Given the description of an element on the screen output the (x, y) to click on. 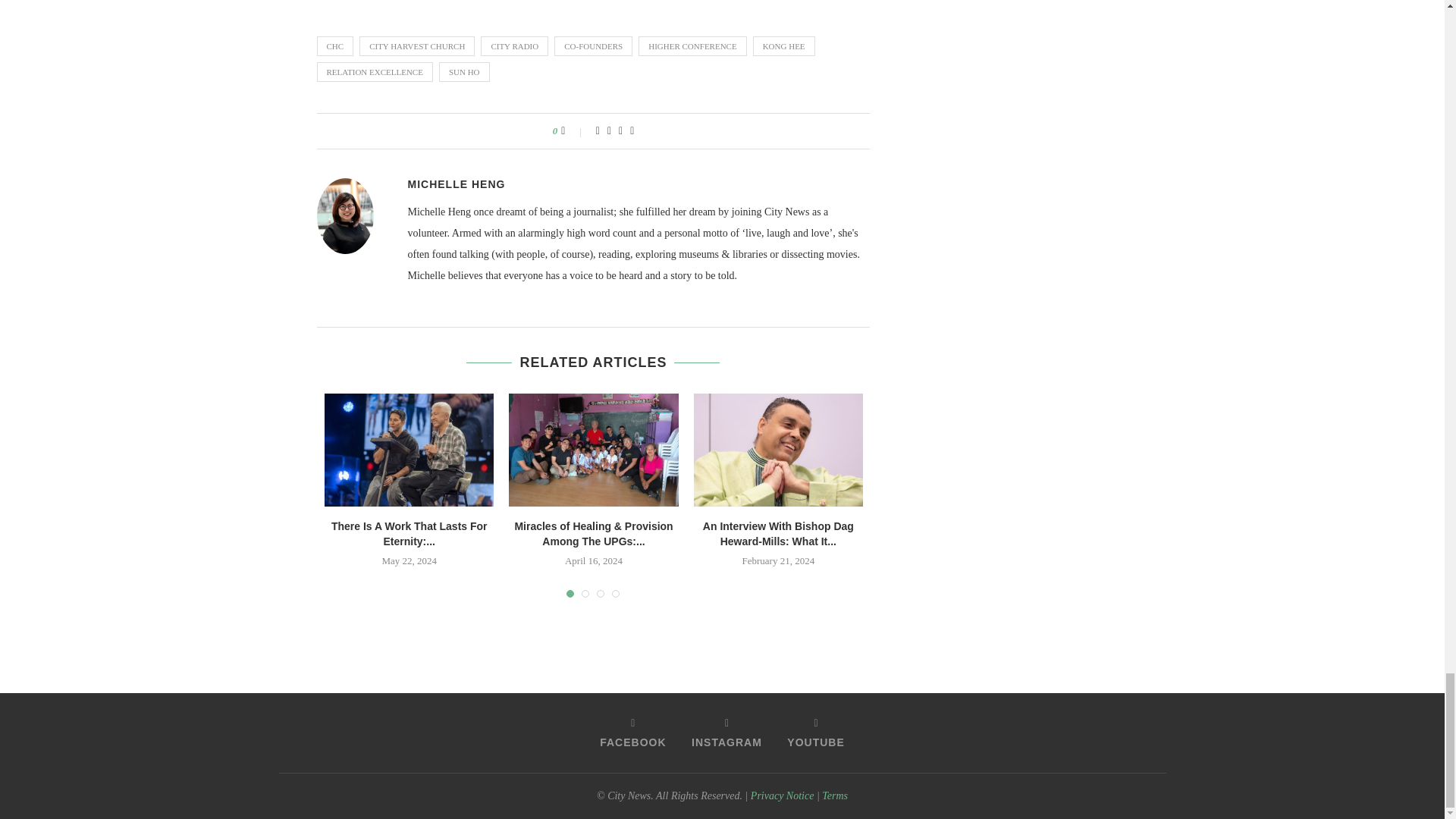
Like (572, 131)
Posts by Michelle Heng (456, 184)
